Given the description of an element on the screen output the (x, y) to click on. 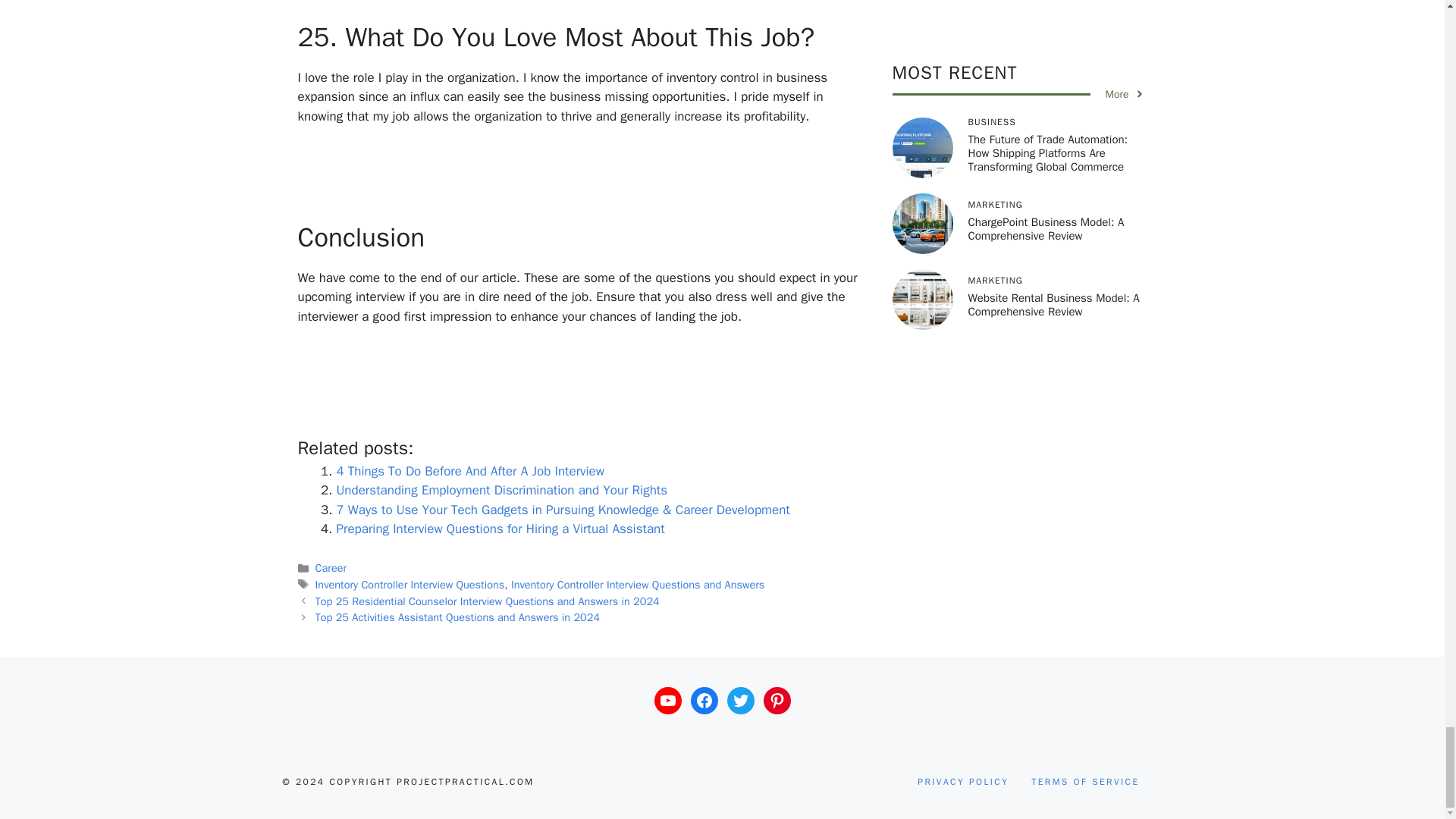
4 Things To Do Before And After A Job Interview (470, 471)
Understanding Employment Discrimination and Your Rights (502, 489)
Preparing Interview Questions for Hiring a Virtual Assistant (500, 528)
Understanding Employment Discrimination and Your Rights (502, 489)
Preparing Interview Questions for Hiring a Virtual Assistant (500, 528)
Career (331, 567)
Inventory Controller Interview Questions and Answers (637, 584)
Top 25 Activities Assistant Questions and Answers in 2024 (457, 617)
4 Things To Do Before And After A Job Interview (470, 471)
Inventory Controller Interview Questions (410, 584)
